Given the description of an element on the screen output the (x, y) to click on. 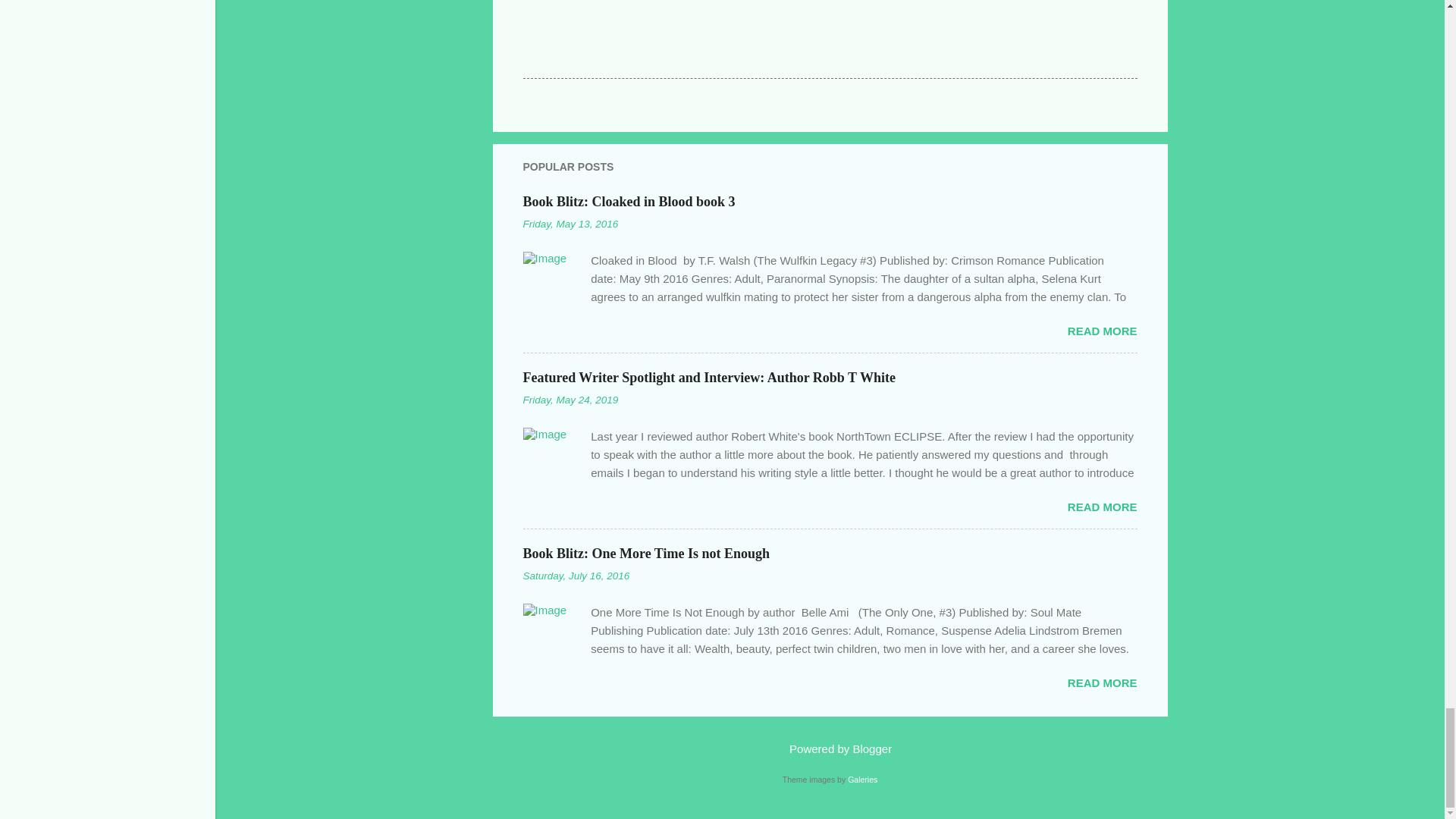
permanent link (576, 575)
Friday, May 24, 2019 (570, 399)
Book Blitz: Cloaked in Blood book 3 (628, 201)
READ MORE (1102, 330)
READ MORE (1102, 506)
permanent link (570, 399)
Book Blitz: Cloaked in Blood book 3 (1102, 330)
permanent link (570, 224)
Featured Writer Spotlight and Interview: Author Robb T White (708, 377)
Featured Writer Spotlight and Interview: Author Robb T White (1102, 506)
